Given the description of an element on the screen output the (x, y) to click on. 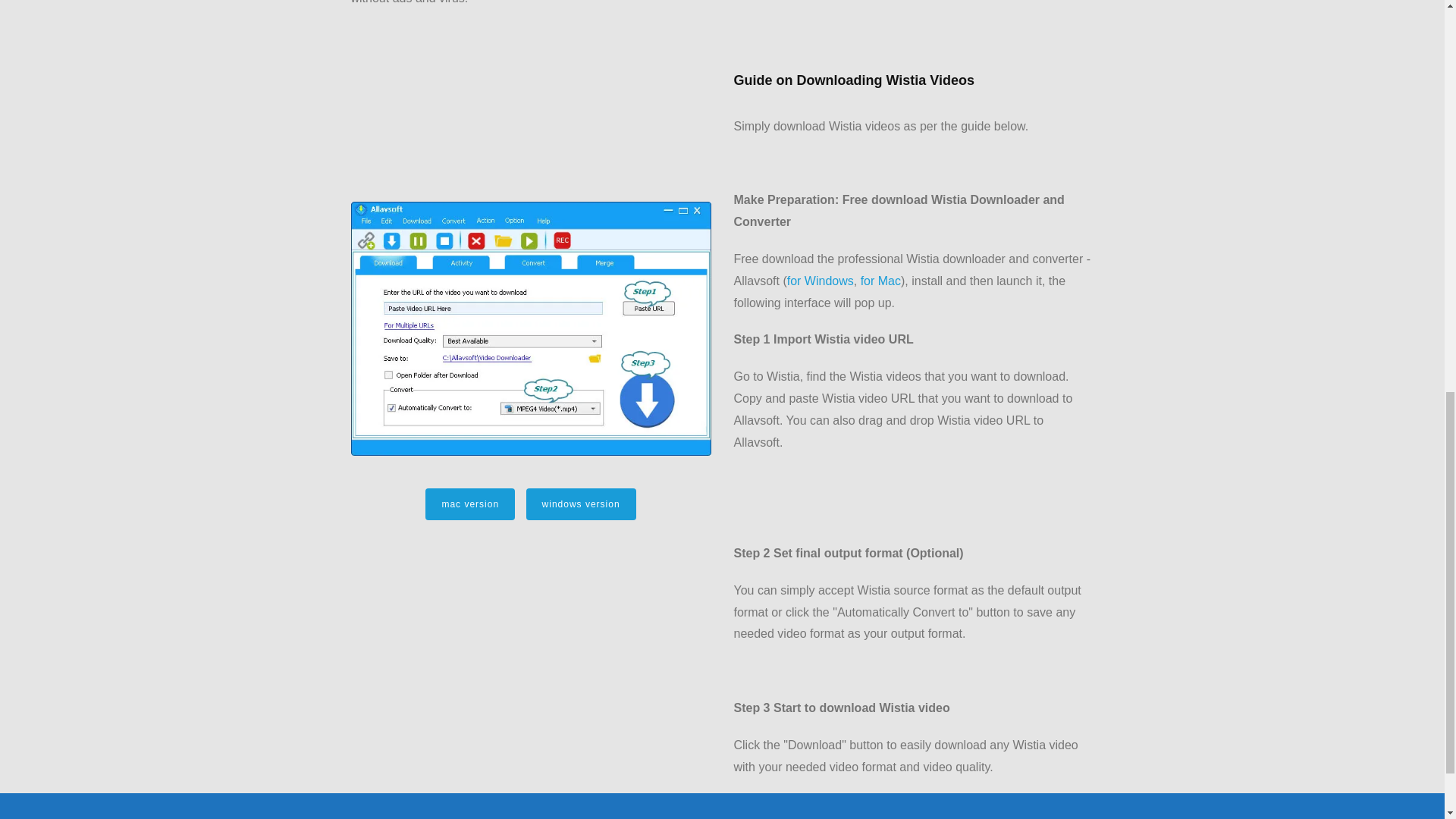
for Windows (820, 280)
for Mac (880, 280)
windows version (580, 504)
mac version (470, 504)
